Given the description of an element on the screen output the (x, y) to click on. 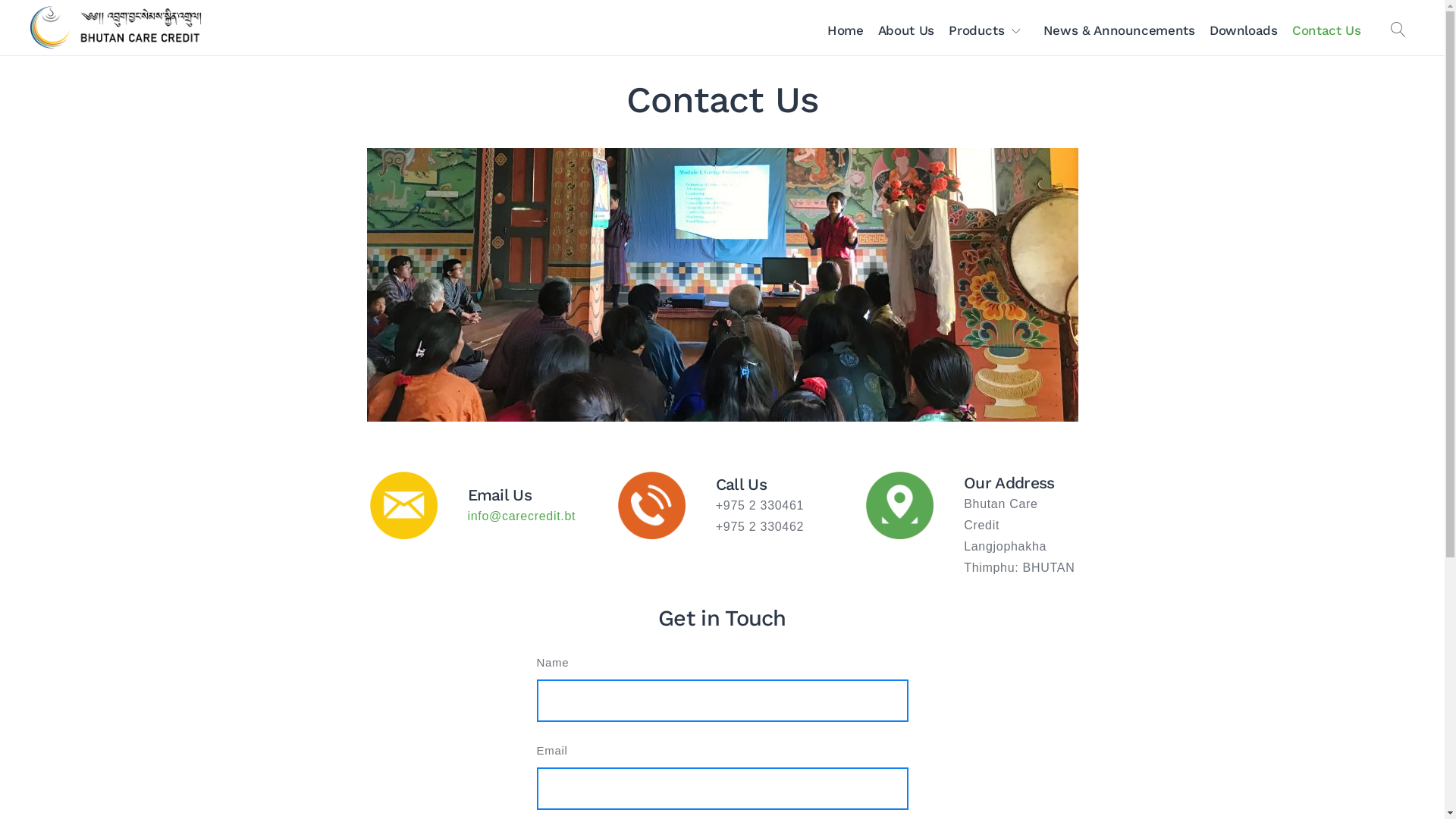
Downloads Element type: text (1242, 29)
News & Announcements Element type: text (1118, 29)
Products Element type: text (988, 29)
OPEN SEARCH Element type: text (1398, 30)
Contact Us Element type: text (1326, 29)
About Us Element type: text (905, 29)
info@carecredit.bt Element type: text (521, 515)
Home Element type: text (844, 29)
Bhutan Care Credit Element type: text (137, 29)
